Given the description of an element on the screen output the (x, y) to click on. 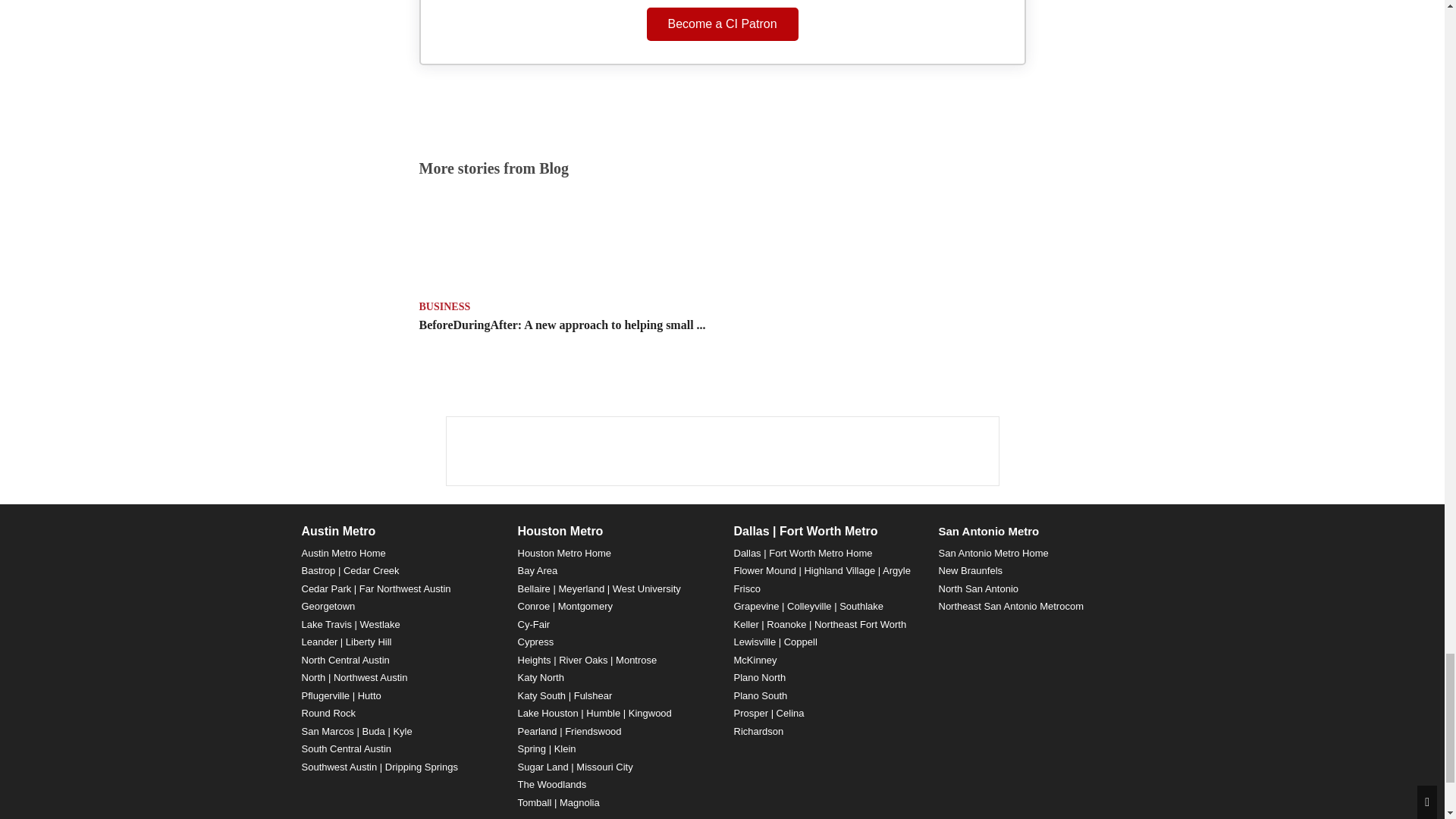
3rd party ad content (721, 450)
